Given the description of an element on the screen output the (x, y) to click on. 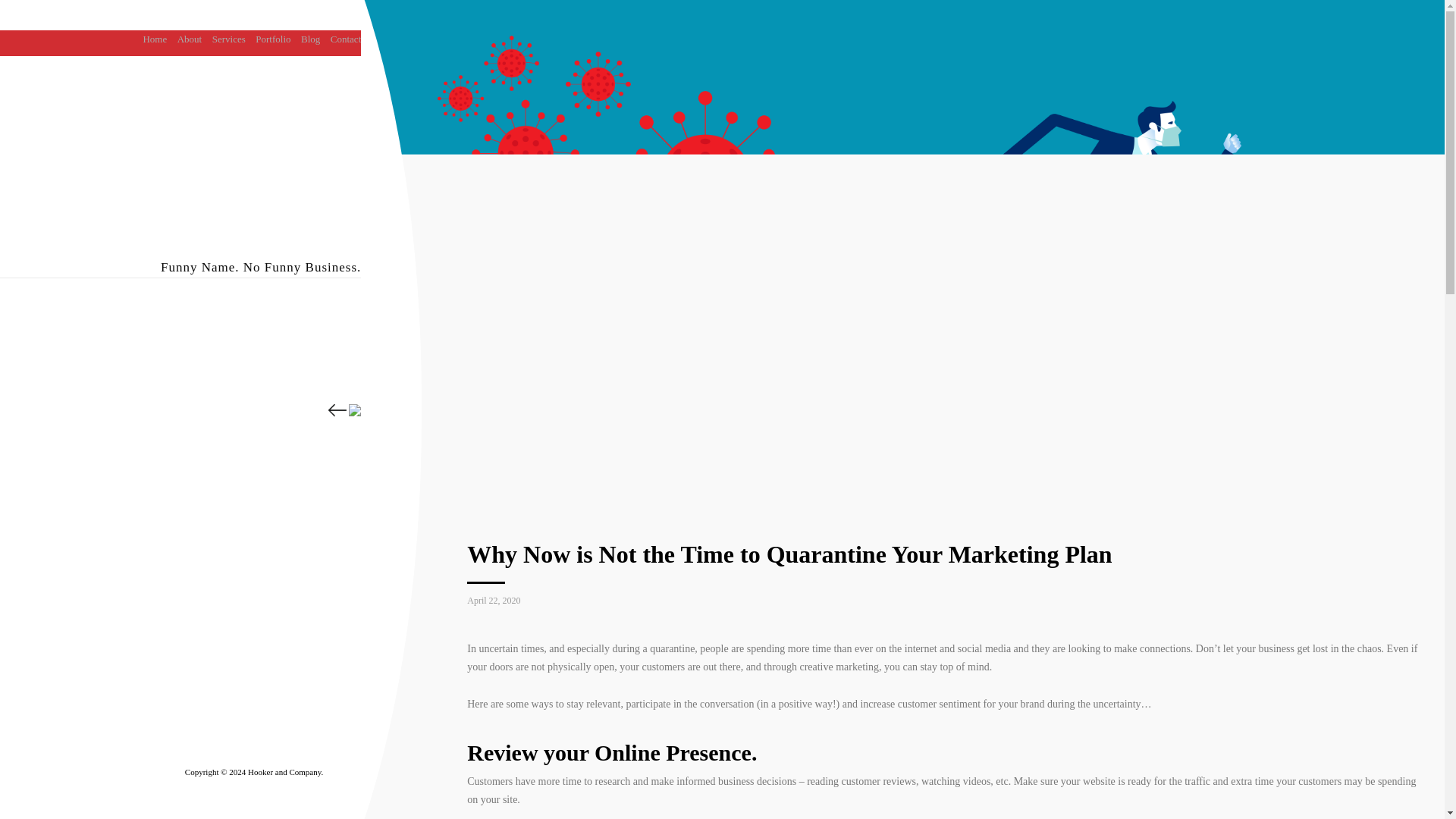
April 22, 2020 (493, 600)
Services (229, 38)
Blog (310, 38)
Home (154, 38)
Why Now is Not the Time to Quarantine Your Marketing Plan (789, 554)
Portfolio (272, 38)
Contact (345, 38)
About (189, 38)
